Given the description of an element on the screen output the (x, y) to click on. 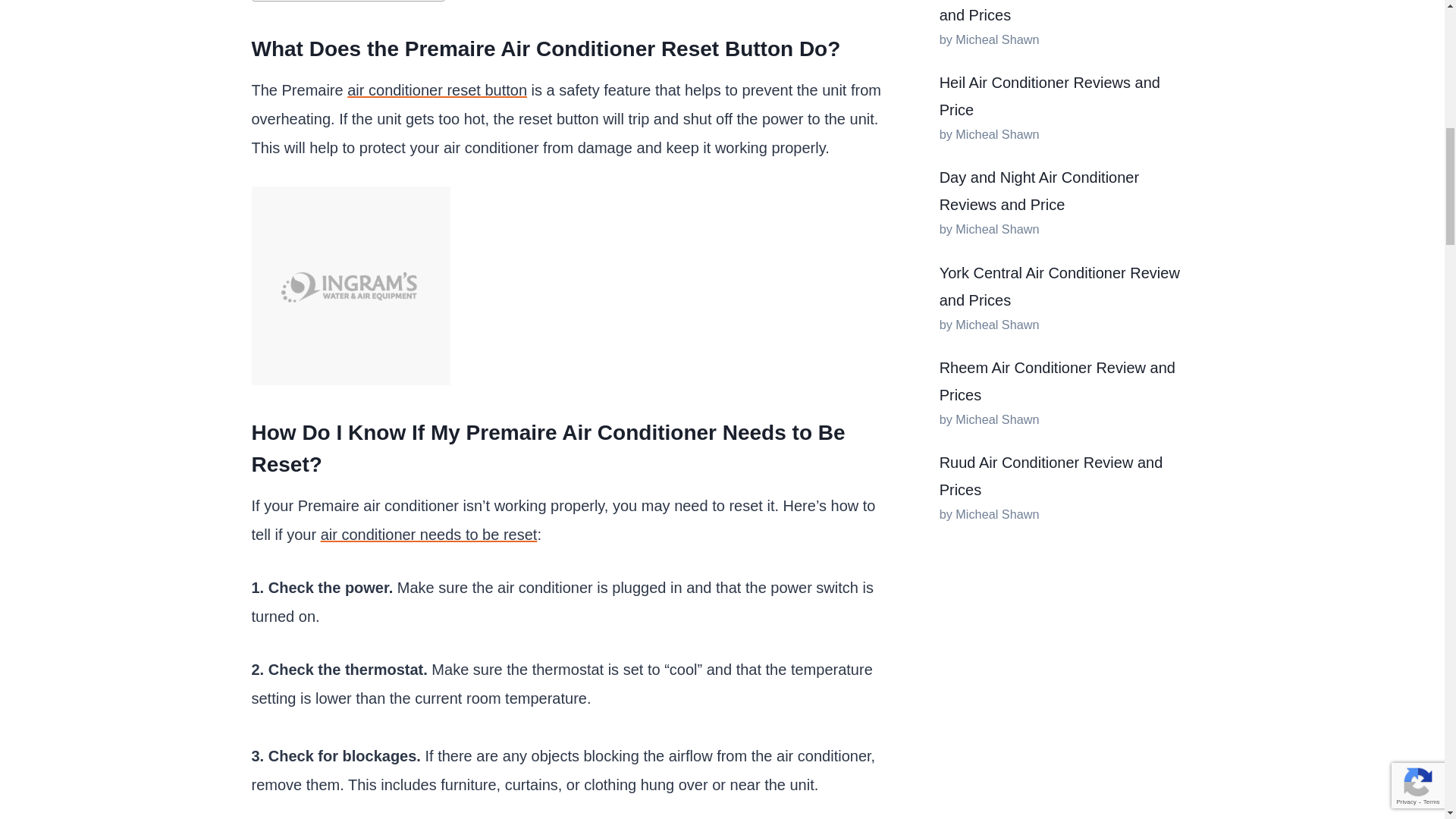
Premaire Air Conditioner Reset Button-Where it is Located? 1 (350, 285)
Where is the Reset Button on My Goodman Air Conditioner (437, 89)
